Given the description of an element on the screen output the (x, y) to click on. 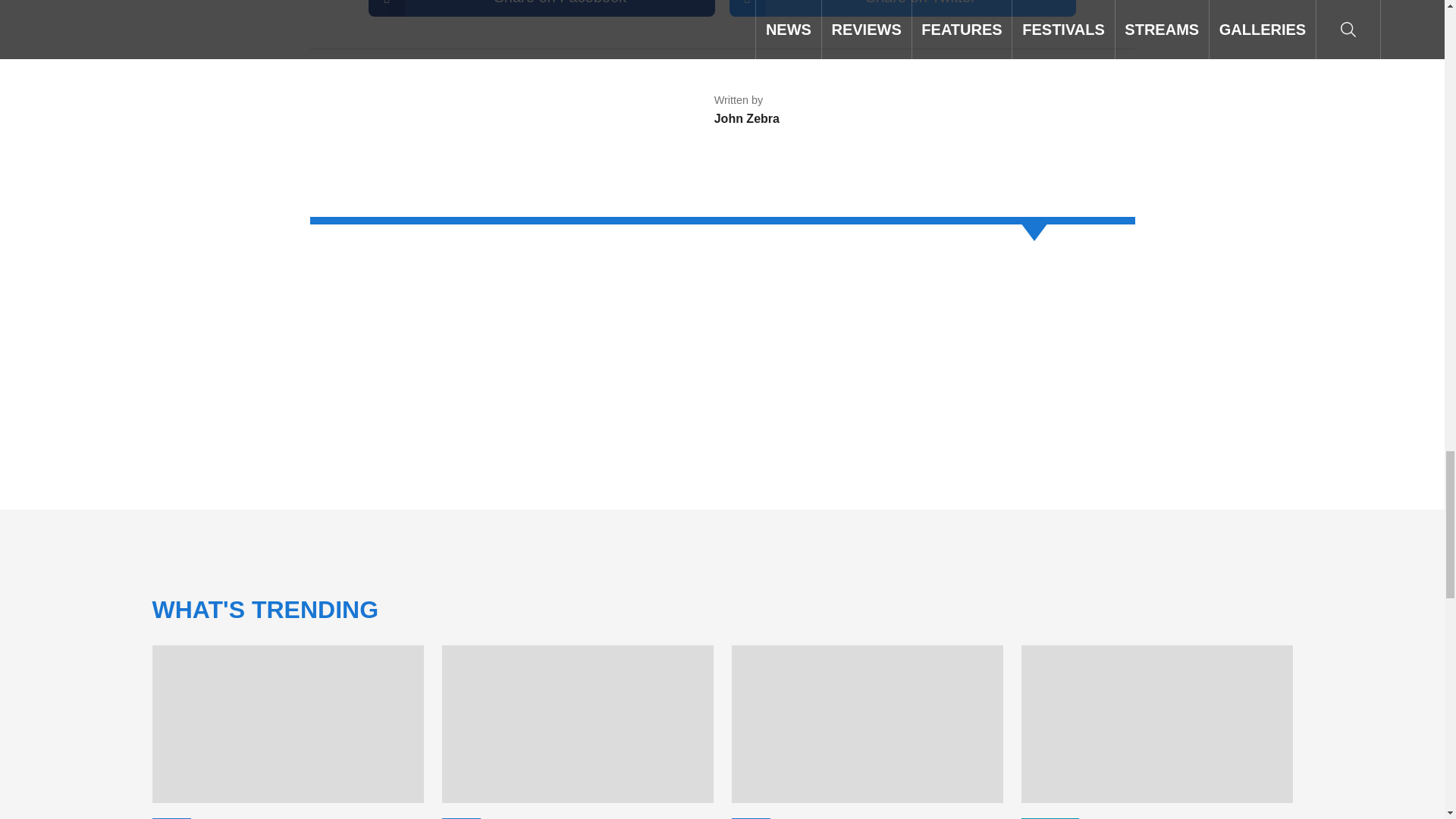
FEATURES (472, 818)
Share on Twitter (902, 8)
Share on Facebook (541, 8)
